Given the description of an element on the screen output the (x, y) to click on. 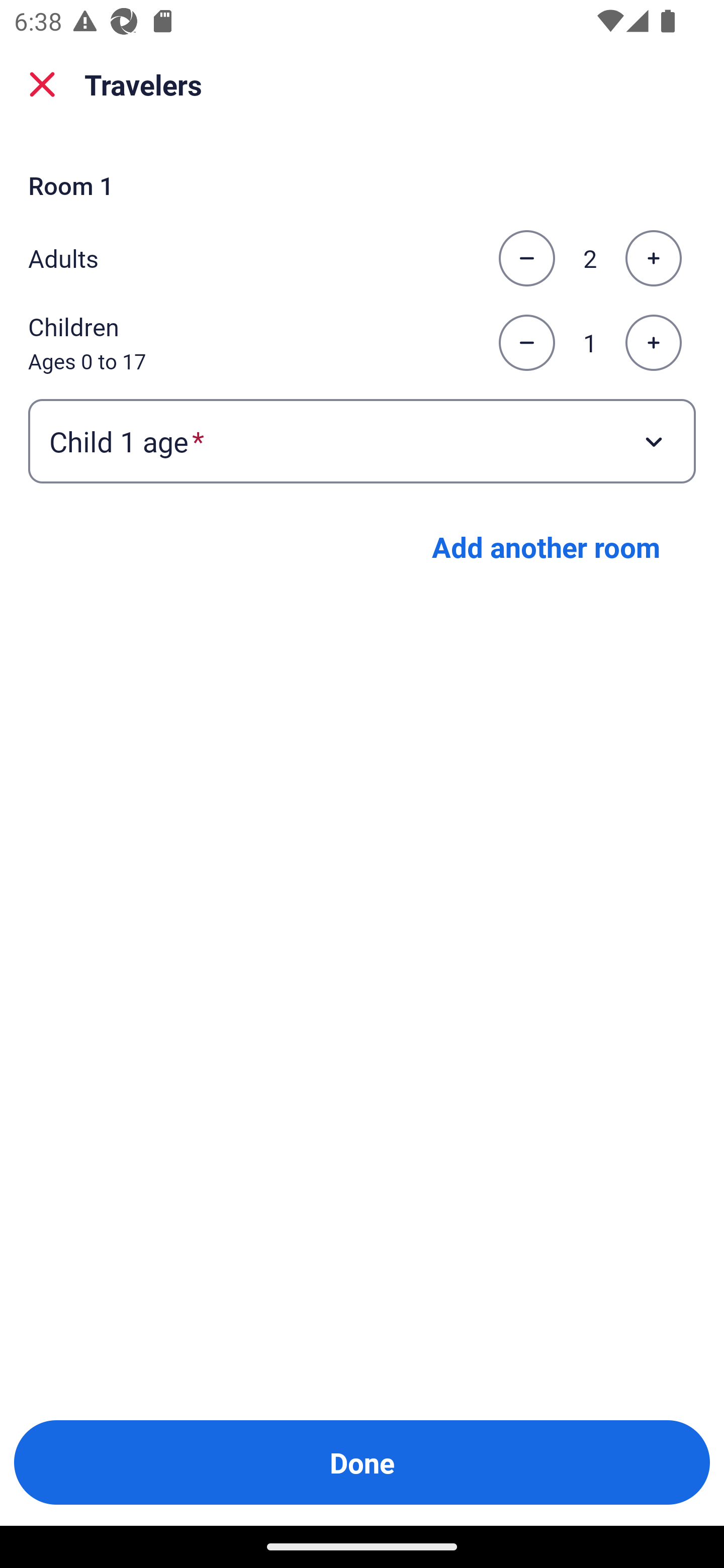
close (42, 84)
Decrease the number of adults (526, 258)
Increase the number of adults (653, 258)
Decrease the number of children (526, 343)
Increase the number of children (653, 343)
Child 1 age required Button (361, 440)
Add another room (545, 546)
Done (361, 1462)
